Given the description of an element on the screen output the (x, y) to click on. 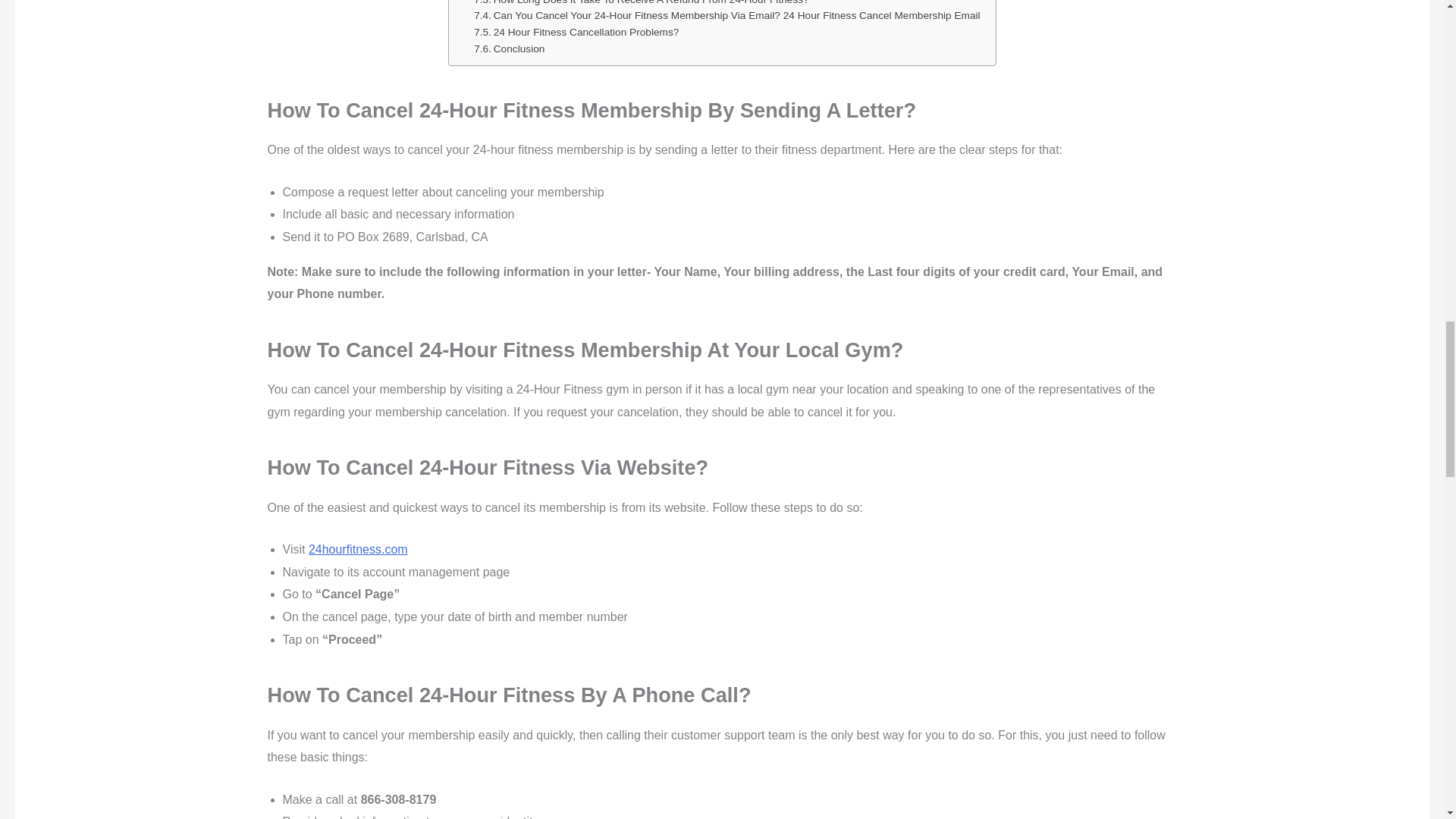
Conclusion (509, 48)
24 Hour Fitness Cancellation Problems? (576, 32)
24hourfitness.com (357, 549)
